Given the description of an element on the screen output the (x, y) to click on. 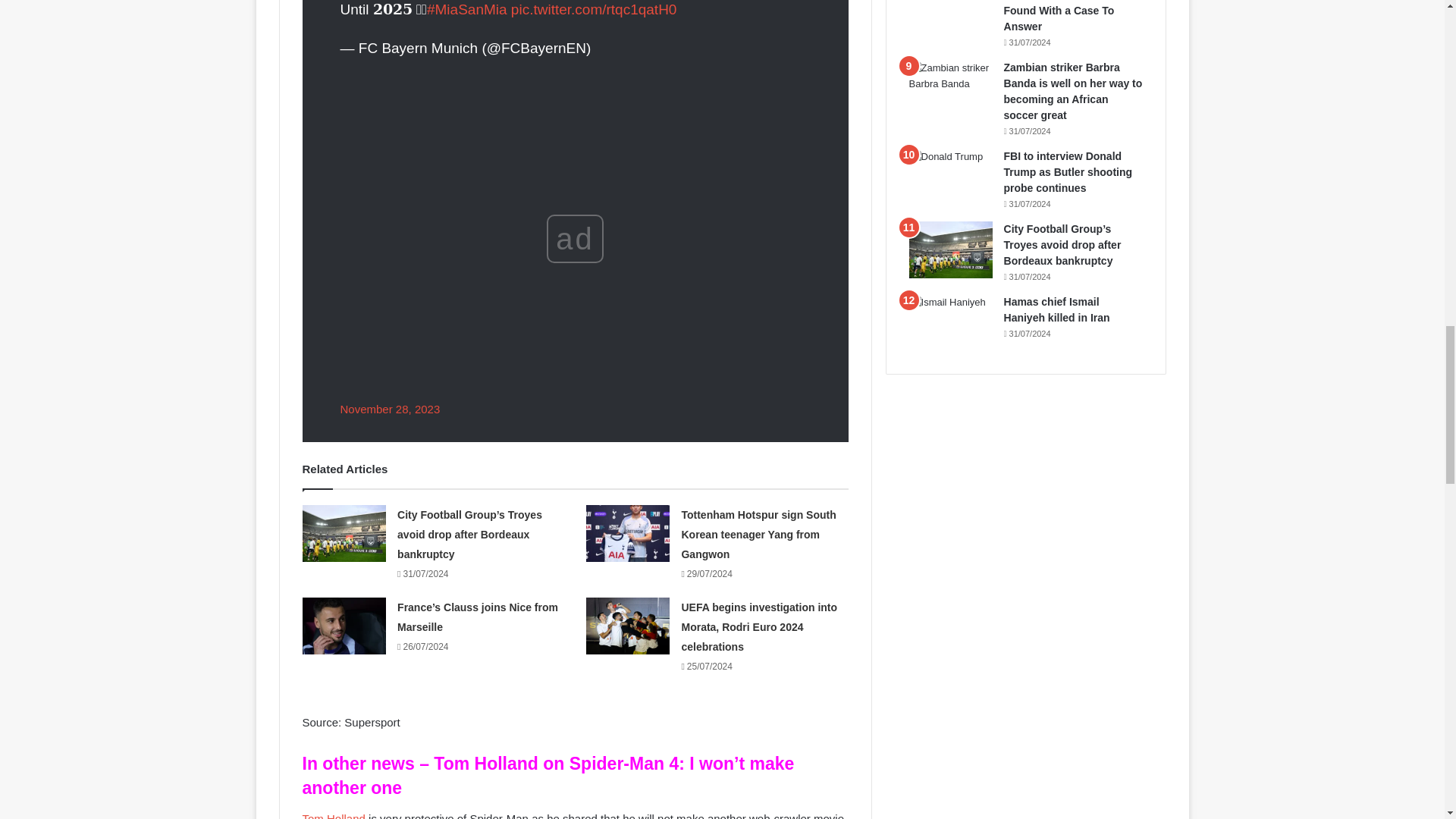
Tom Holland (333, 815)
November 28, 2023 (389, 408)
